Given the description of an element on the screen output the (x, y) to click on. 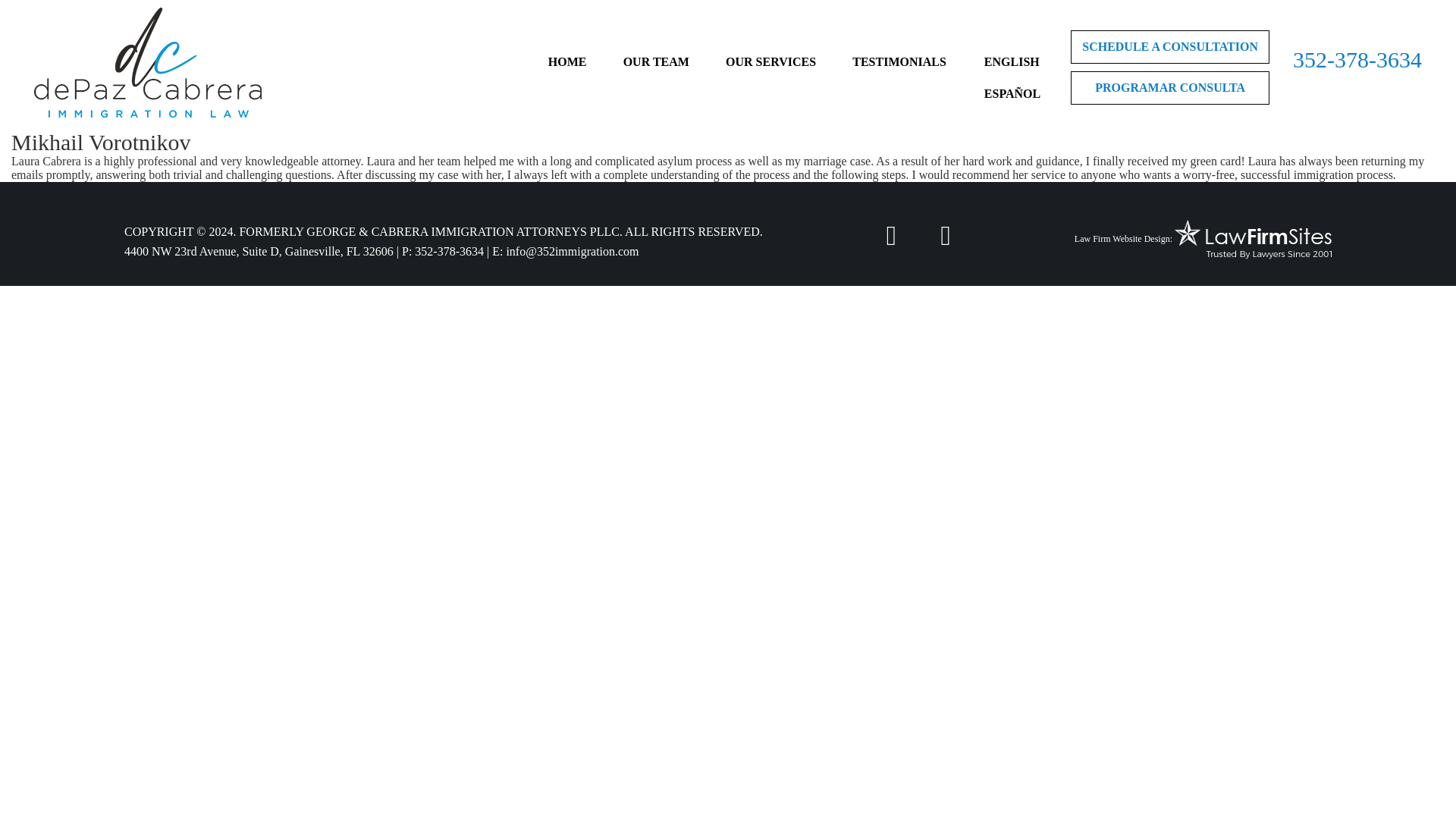
Spanish (1012, 93)
TESTIMONIALS (898, 61)
352-378-3634 (1357, 59)
dePaz Cabrera Immigration Law (147, 62)
ENGLISH (1012, 61)
352-378-3634 (448, 250)
Law Firm Website Design: (1123, 239)
OUR TEAM (655, 61)
HOME (567, 61)
SCHEDULE A CONSULTATION (1169, 46)
